Given the description of an element on the screen output the (x, y) to click on. 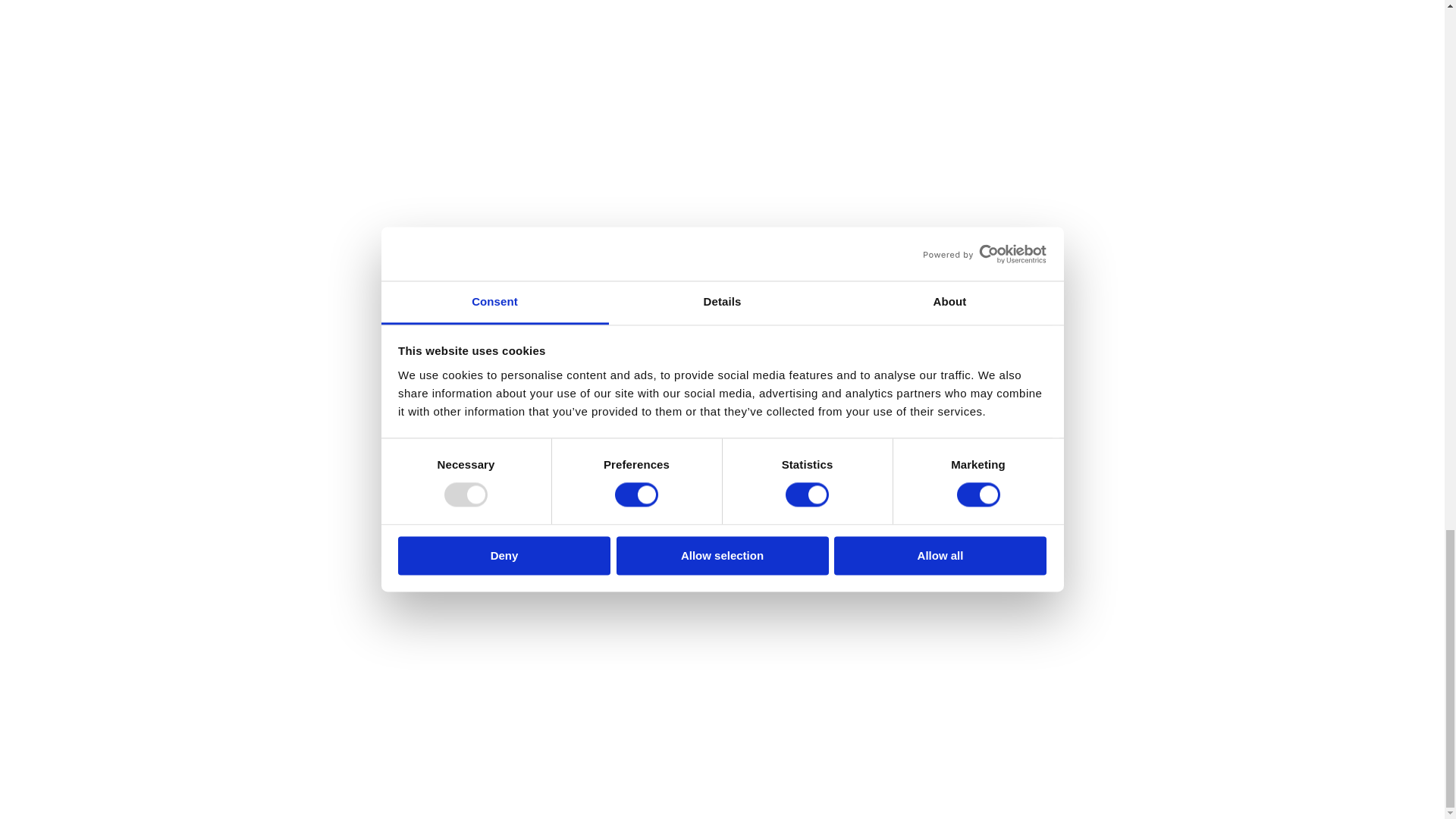
Facebook (296, 740)
Twitter (340, 740)
null (380, 748)
Instagram (384, 740)
